Given the description of an element on the screen output the (x, y) to click on. 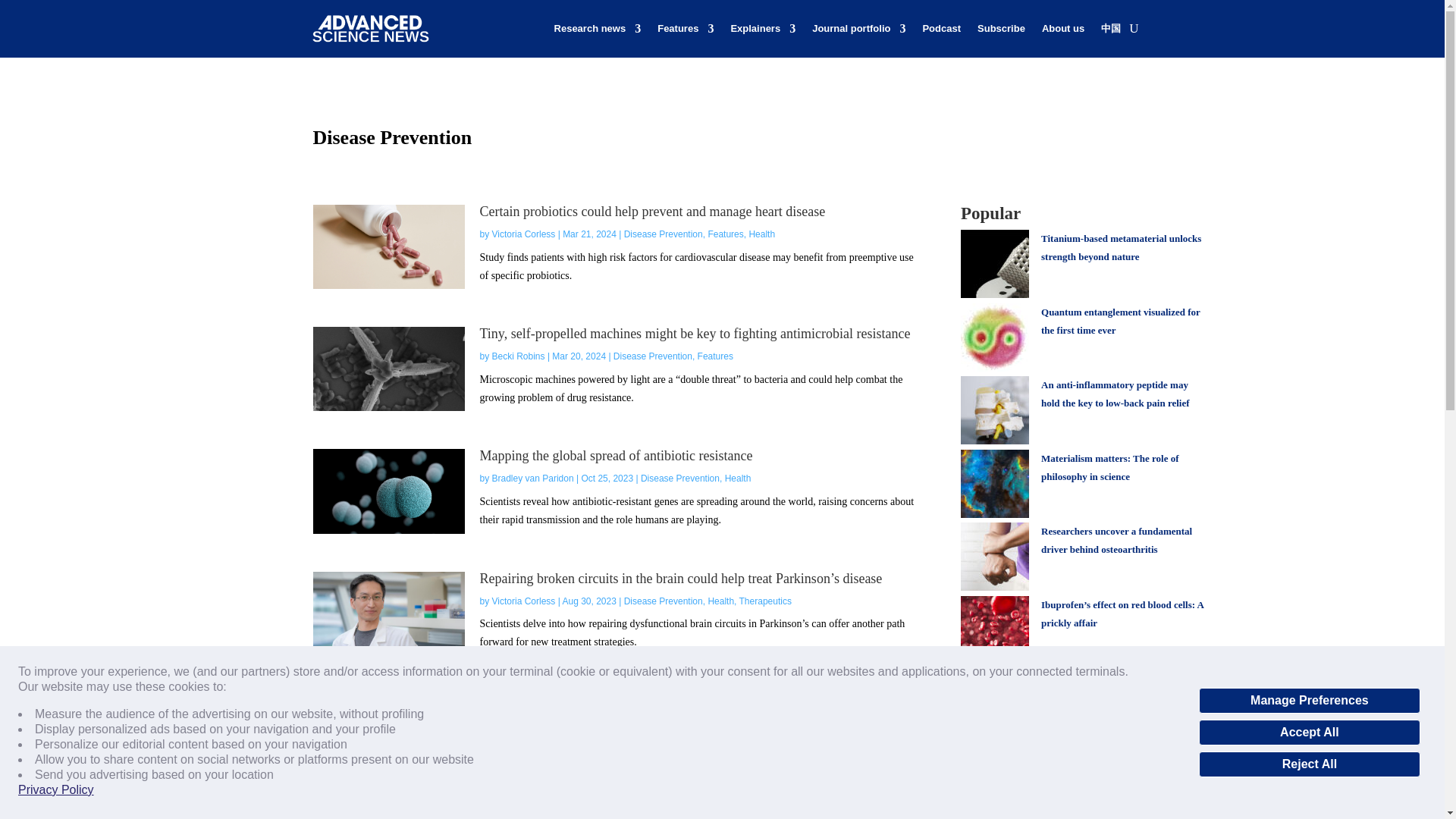
Privacy Policy (55, 789)
Manage Preferences (1309, 700)
Features (685, 28)
Posts by Becki Robins (518, 356)
Posts by Victoria Corless (524, 723)
Explainers (762, 28)
Journal portfolio (858, 28)
Reject All (1309, 764)
Posts by Victoria Corless (524, 601)
Accept All (1309, 732)
Research news (598, 28)
Posts by Bradley van Paridon (532, 478)
Posts by Victoria Corless (524, 234)
